Given the description of an element on the screen output the (x, y) to click on. 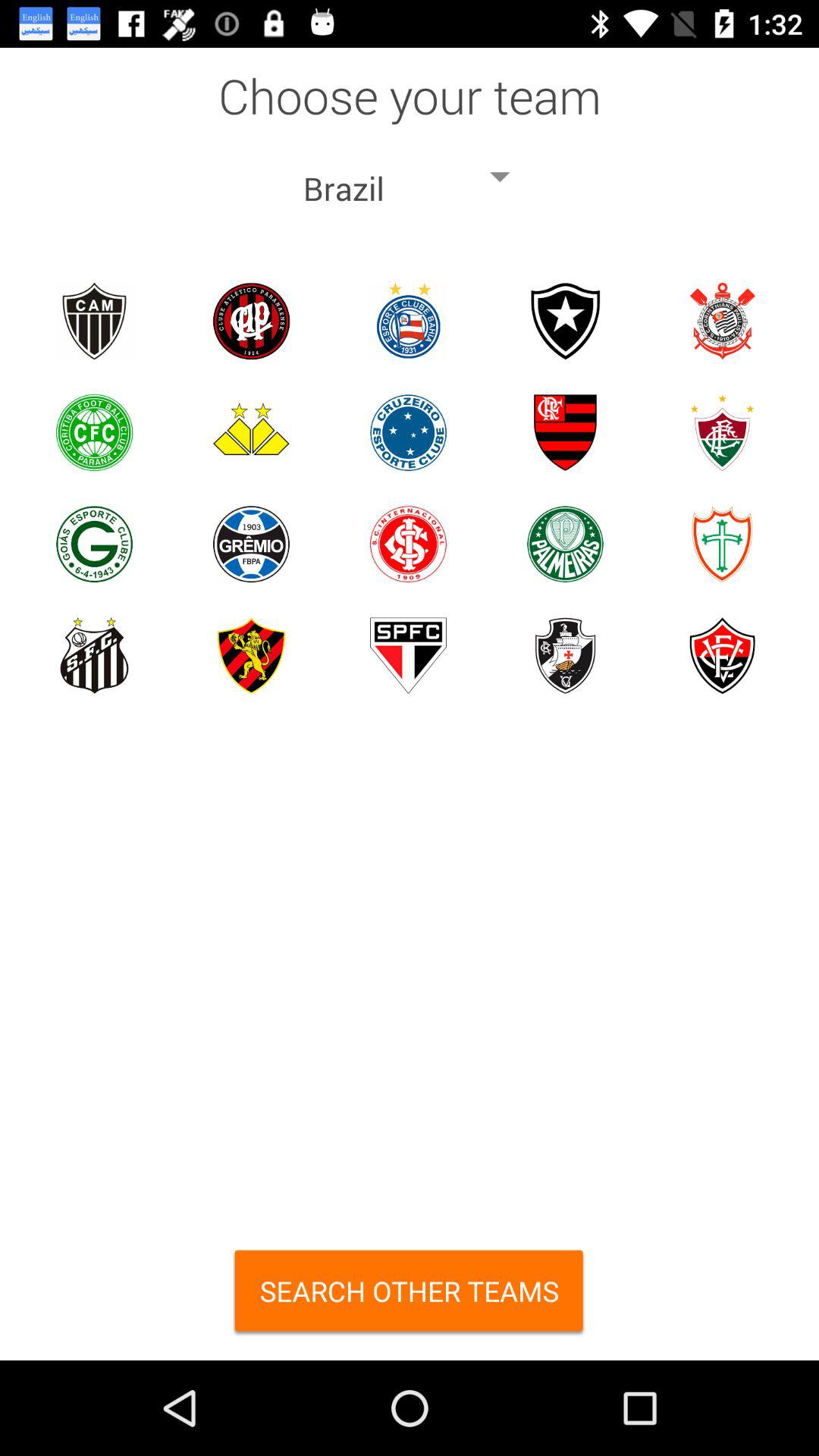
select the team (408, 544)
